Given the description of an element on the screen output the (x, y) to click on. 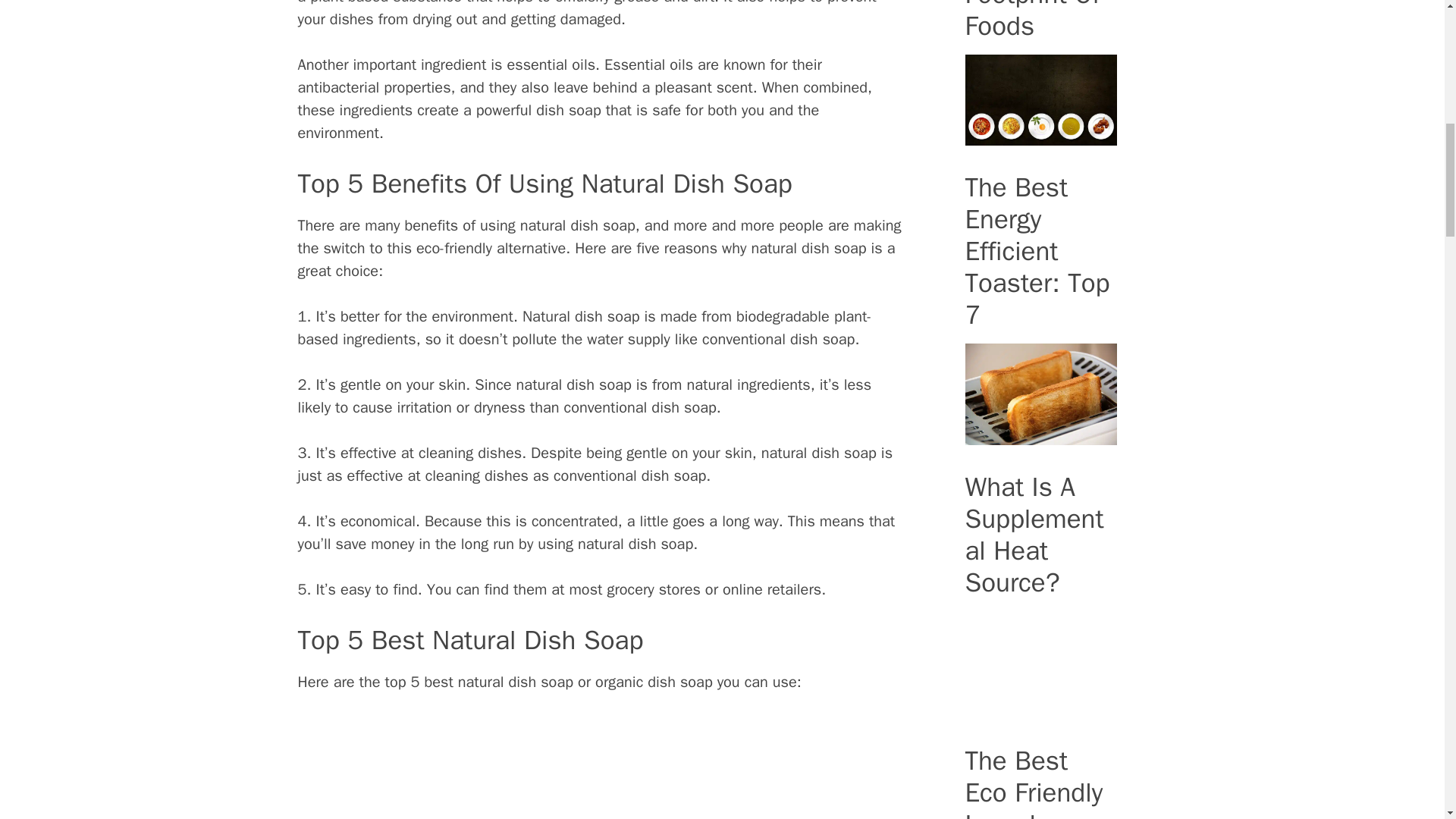
What Is A Supplemental Heat Source? (1039, 709)
better for the environment (426, 316)
Database For Carbon Footprint Of Foods (1039, 135)
The Best Energy Efficient Toaster: Top 7 (1039, 434)
organic dish soap (656, 681)
